Given the description of an element on the screen output the (x, y) to click on. 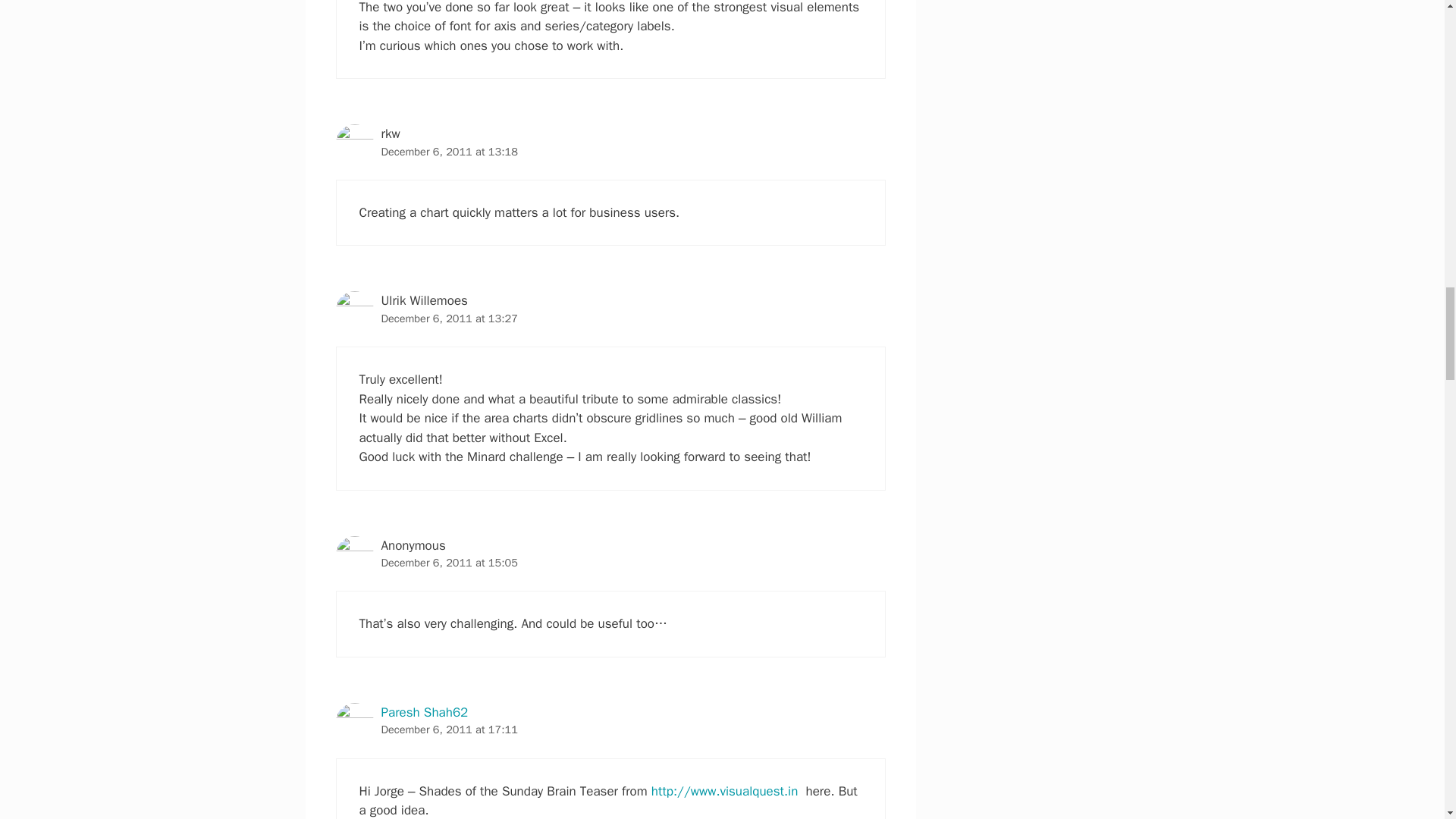
December 6, 2011 at 13:27 (448, 318)
December 6, 2011 at 13:18 (448, 151)
December 6, 2011 at 15:05 (448, 562)
Paresh Shah62 (423, 712)
December 6, 2011 at 17:11 (448, 729)
